Given the description of an element on the screen output the (x, y) to click on. 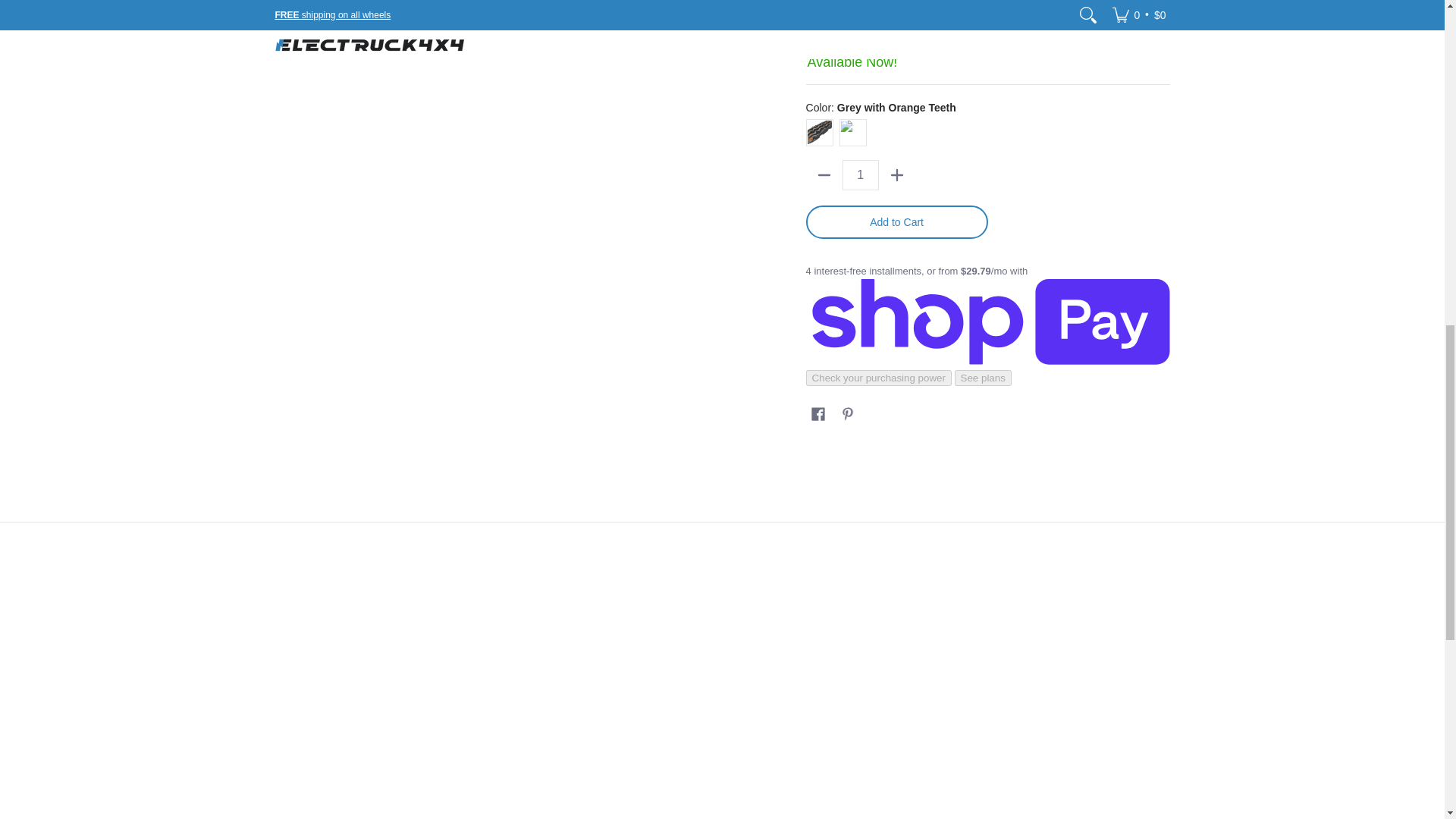
1 (861, 174)
Gunmetal Grey (853, 132)
Grey with Orange Teeth (819, 132)
